Given the description of an element on the screen output the (x, y) to click on. 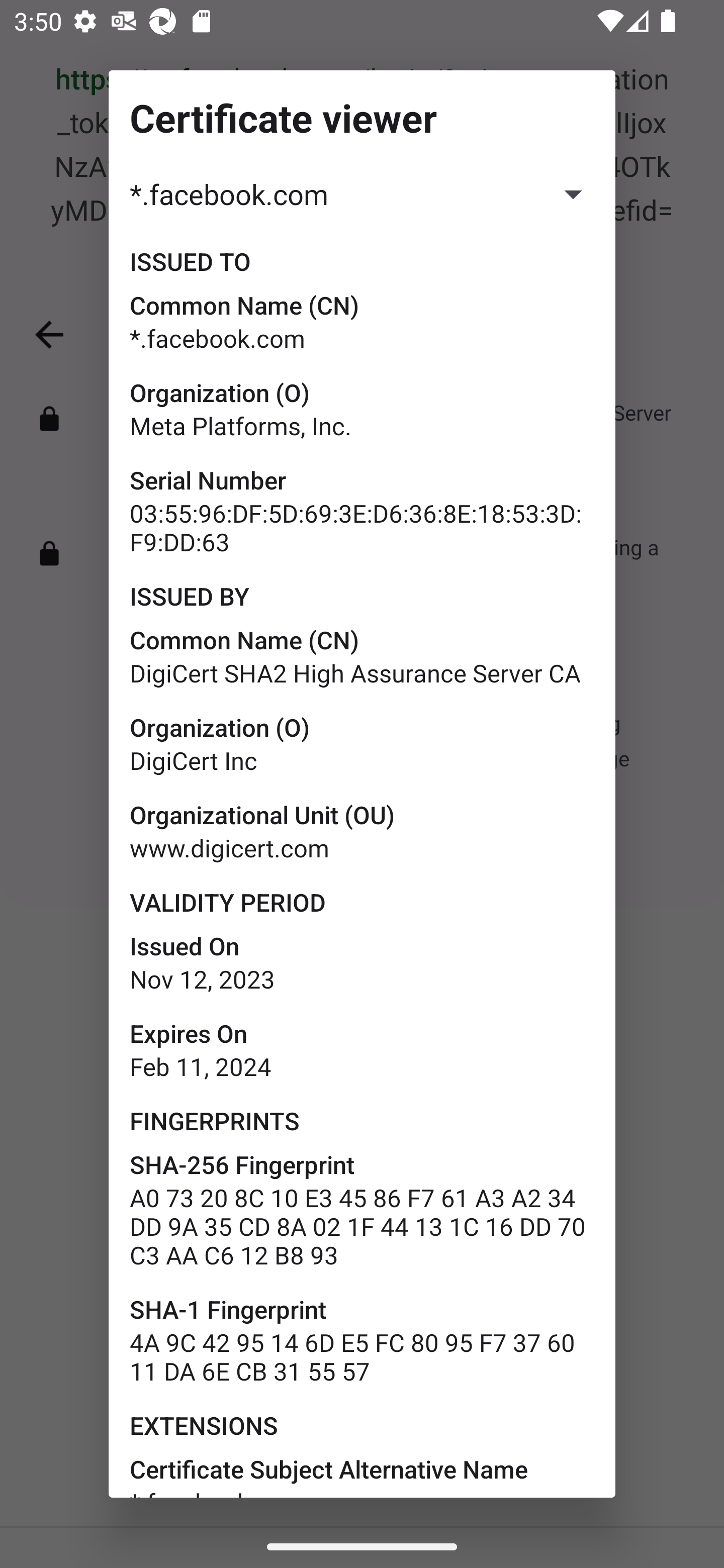
*.facebook.com (361, 193)
